Given the description of an element on the screen output the (x, y) to click on. 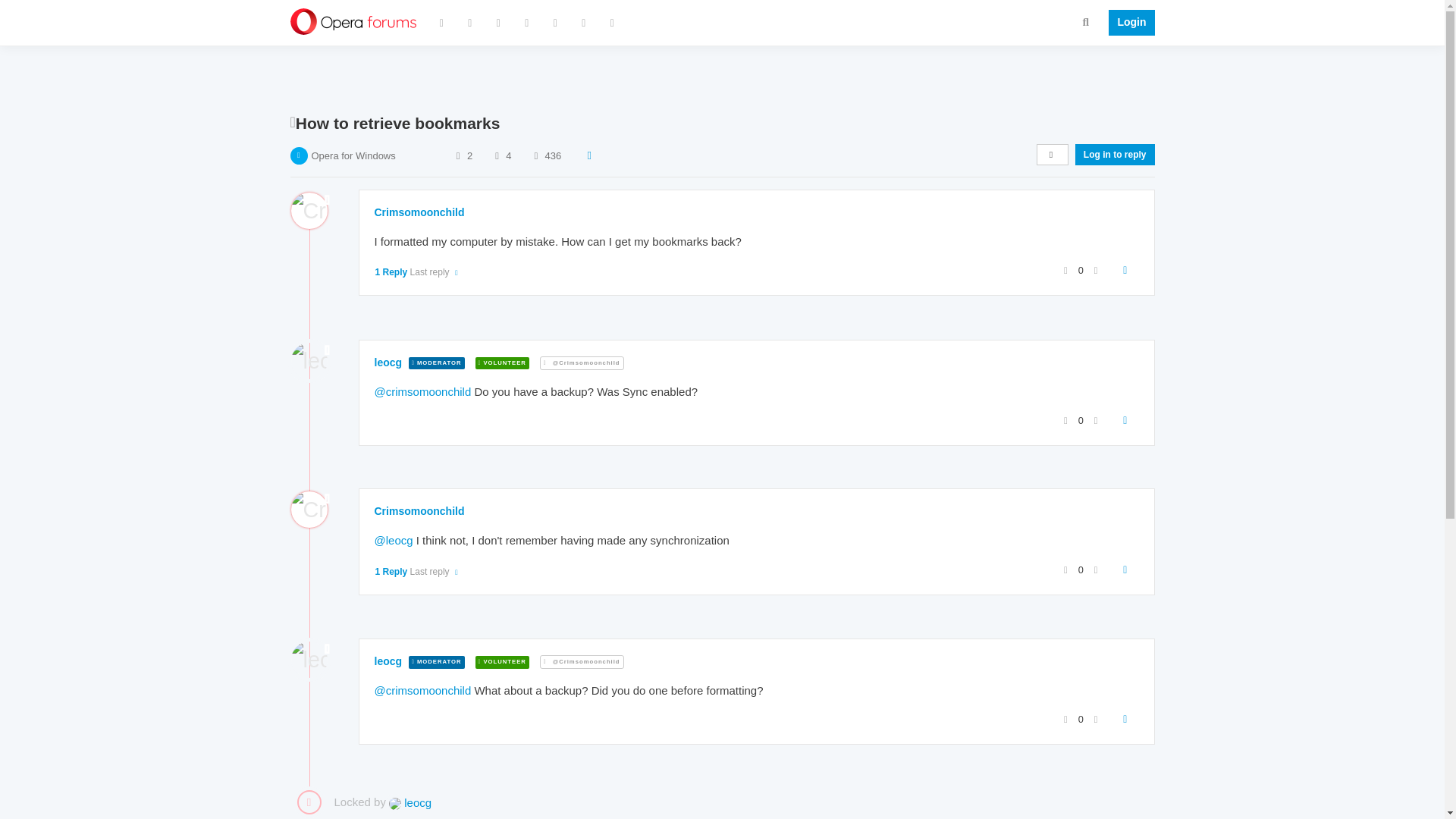
Log in to reply (1114, 154)
Posts (496, 155)
Views (535, 155)
Opera for Windows (352, 155)
1 Reply Last reply (416, 271)
Search (1085, 21)
Login (1127, 22)
Crimsomoonchild (419, 212)
Posters (457, 155)
